Given the description of an element on the screen output the (x, y) to click on. 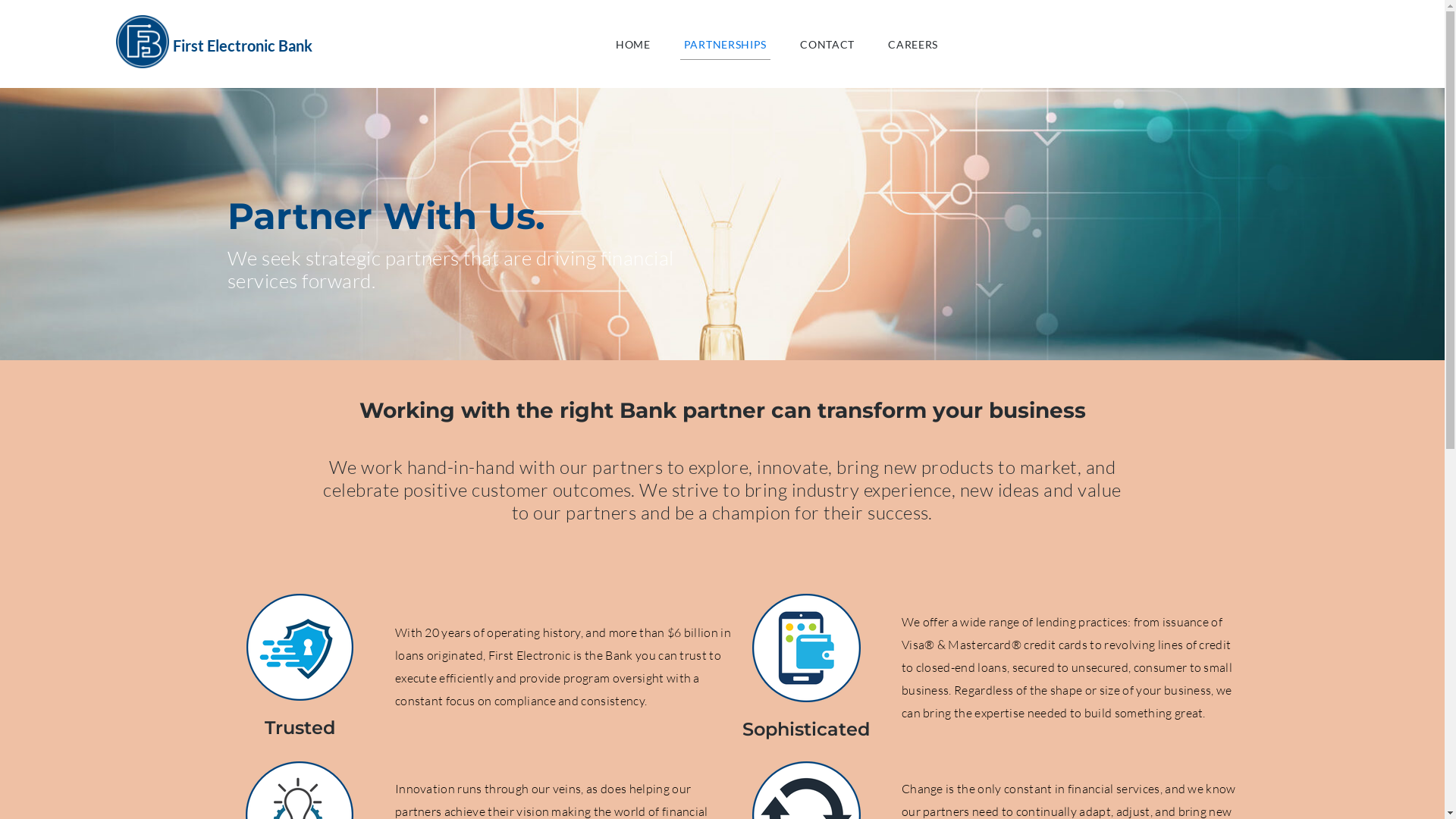
First Electronic Bank Element type: text (242, 45)
HOME Element type: text (632, 43)
CONTACT Element type: text (826, 43)
CAREERS Element type: text (912, 43)
PARTNERSHIPS Element type: text (724, 43)
